Given the description of an element on the screen output the (x, y) to click on. 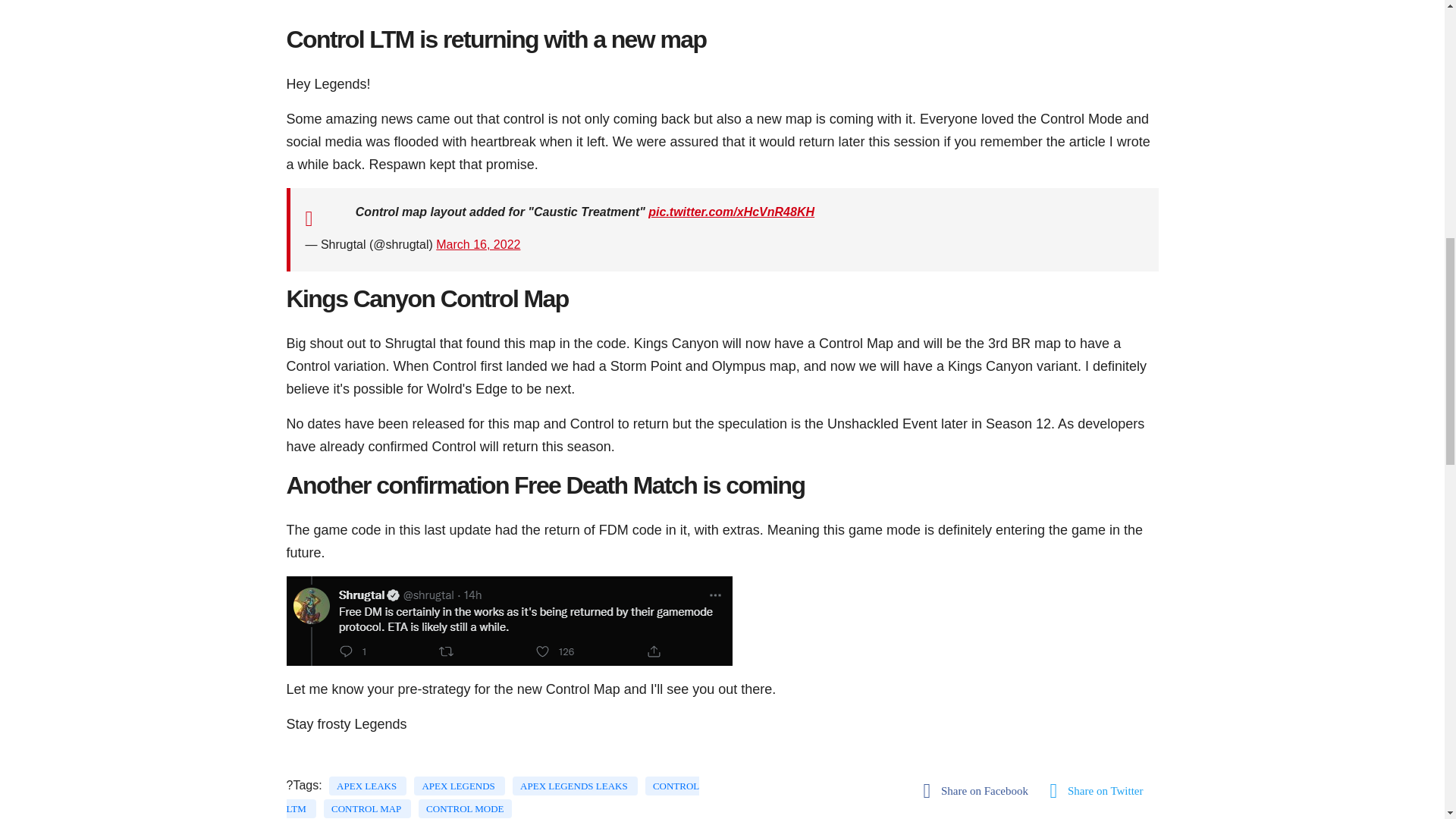
Share on Facebook (980, 791)
CONTROL LTM (493, 797)
APEX LEGENDS LEAKS (574, 785)
fab fa-facebook-square (980, 791)
CONTROL MAP (366, 808)
CONTROL MODE (465, 808)
fab fa-twitter-square (1100, 791)
Share on Twitter (1100, 791)
March 16, 2022 (477, 244)
APEX LEAKS (367, 785)
